Given the description of an element on the screen output the (x, y) to click on. 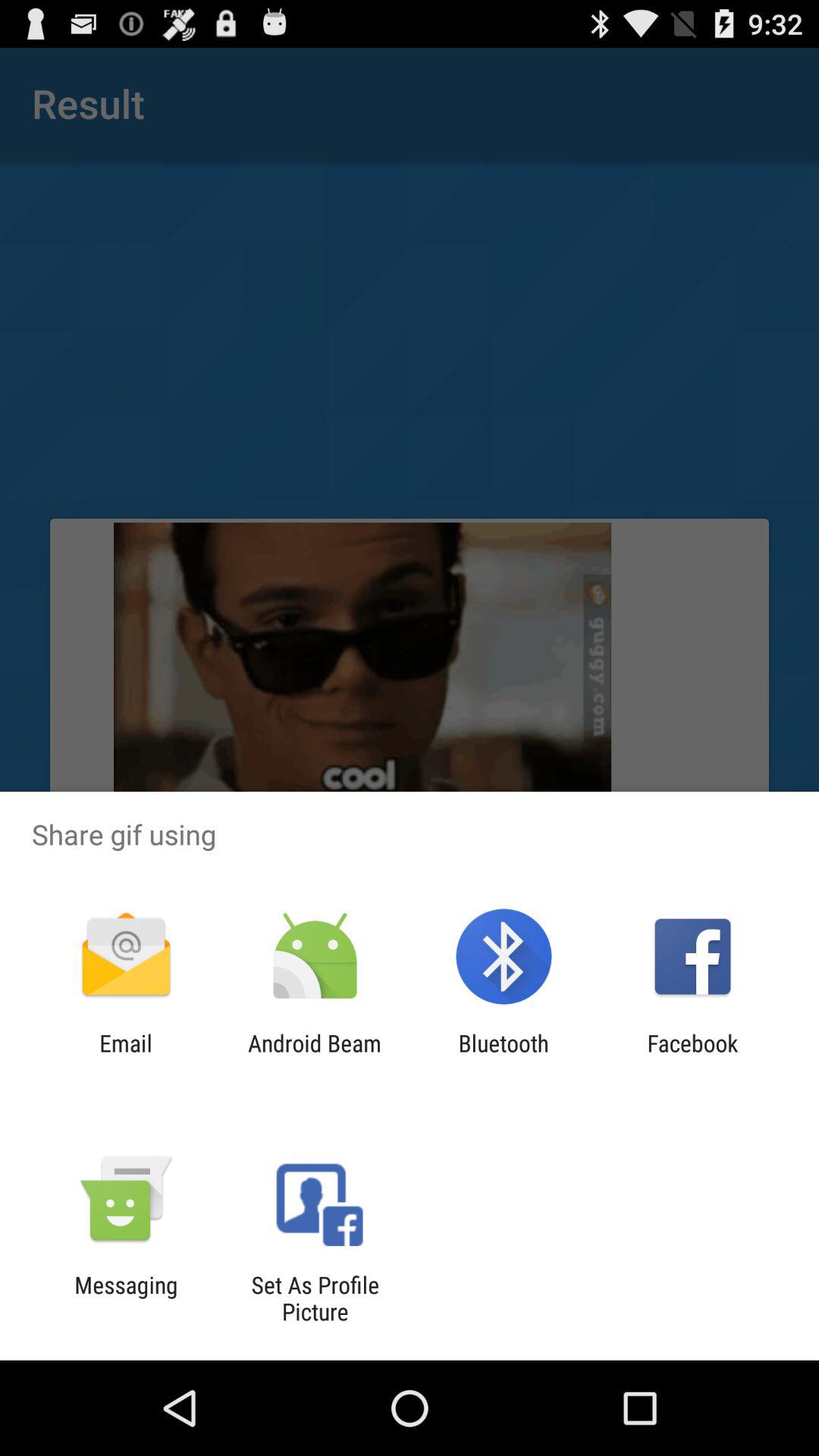
open email item (125, 1056)
